Given the description of an element on the screen output the (x, y) to click on. 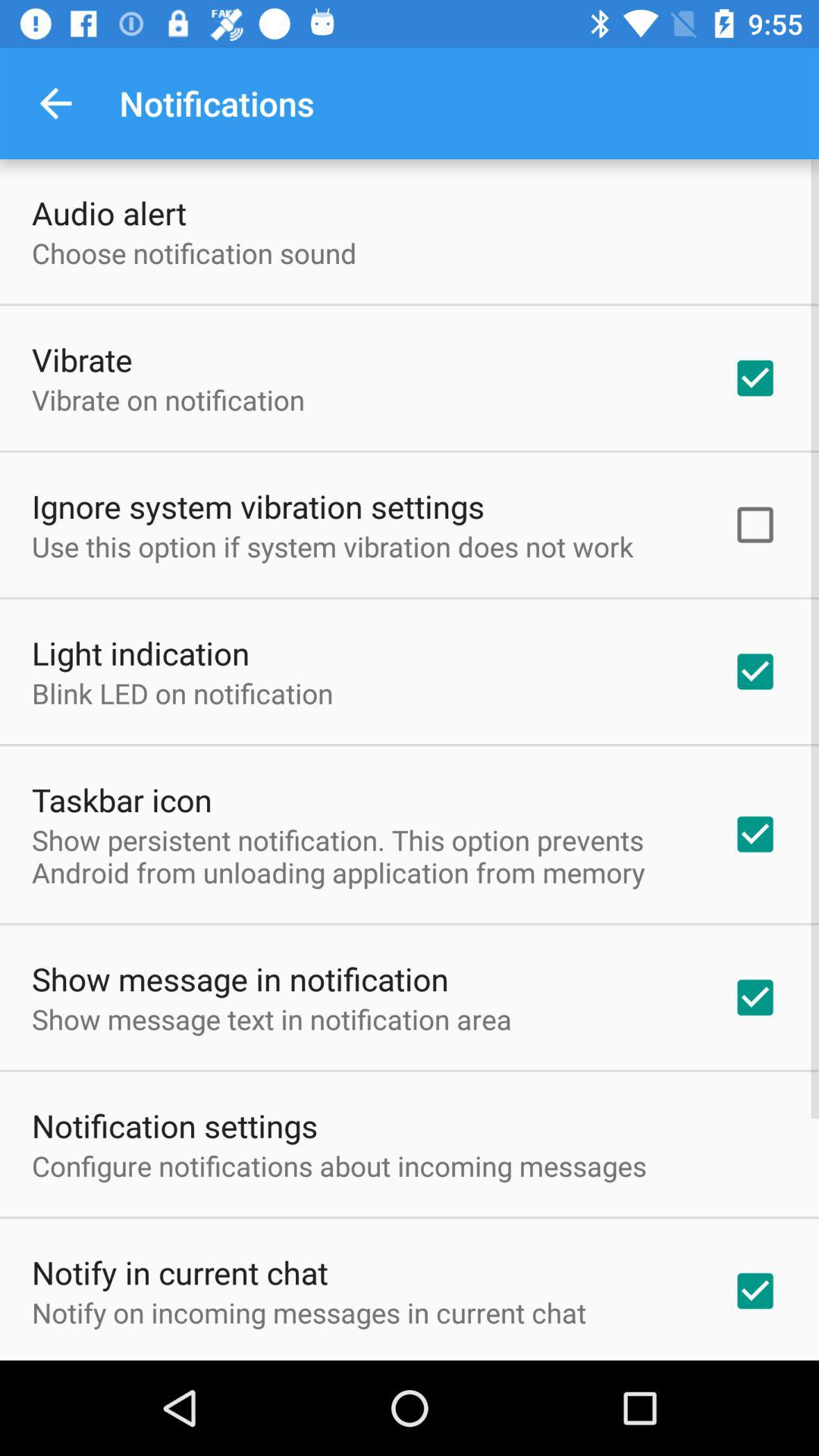
flip to taskbar icon icon (121, 799)
